Given the description of an element on the screen output the (x, y) to click on. 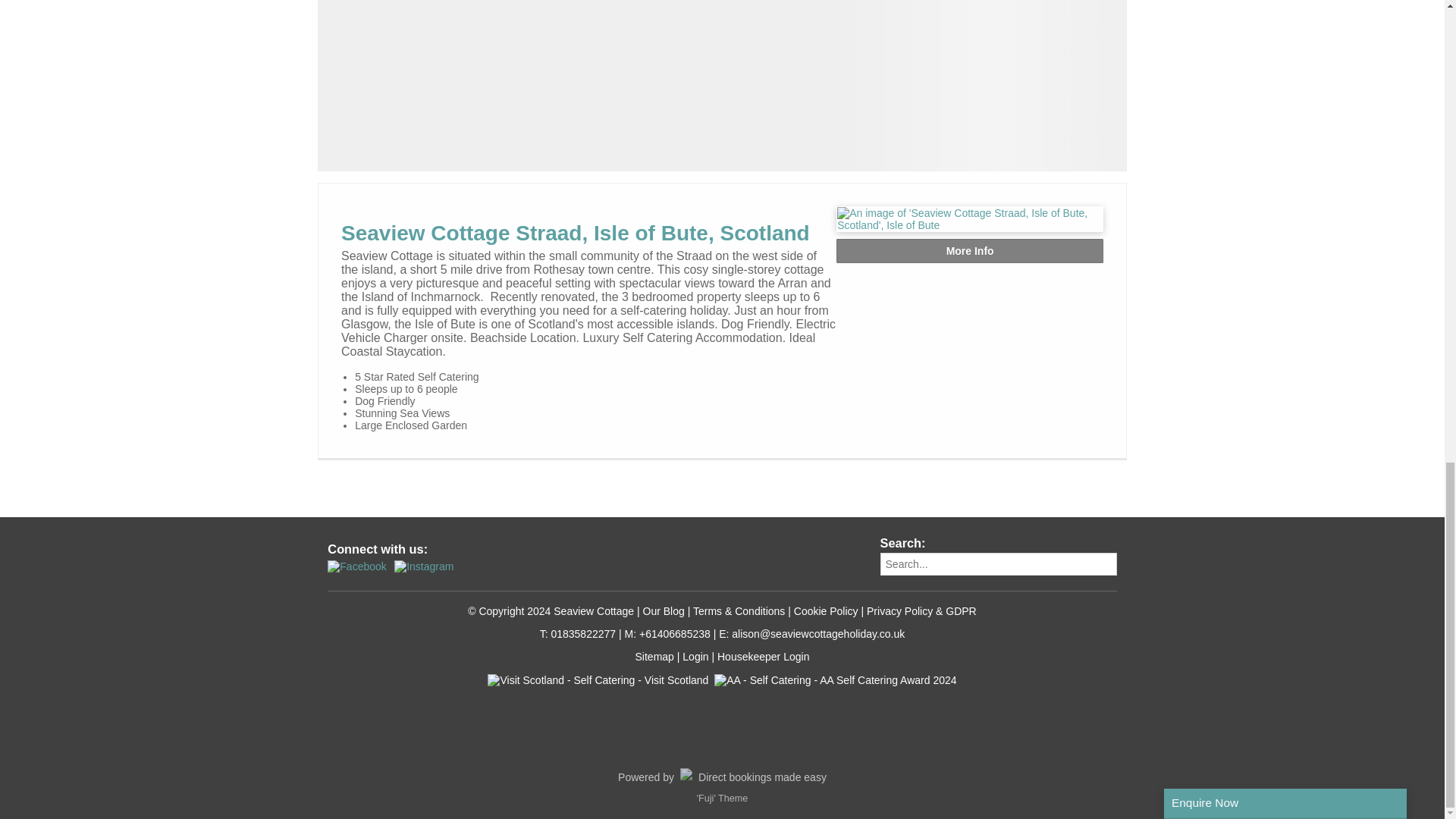
Visit Scotland - Self Catering - Visit Scotland (597, 715)
Seaview Cottage Straad, Isle of Bute, Scotland (574, 232)
Cookie Policy (826, 611)
Our Blog (663, 611)
More Info (969, 250)
